Given the description of an element on the screen output the (x, y) to click on. 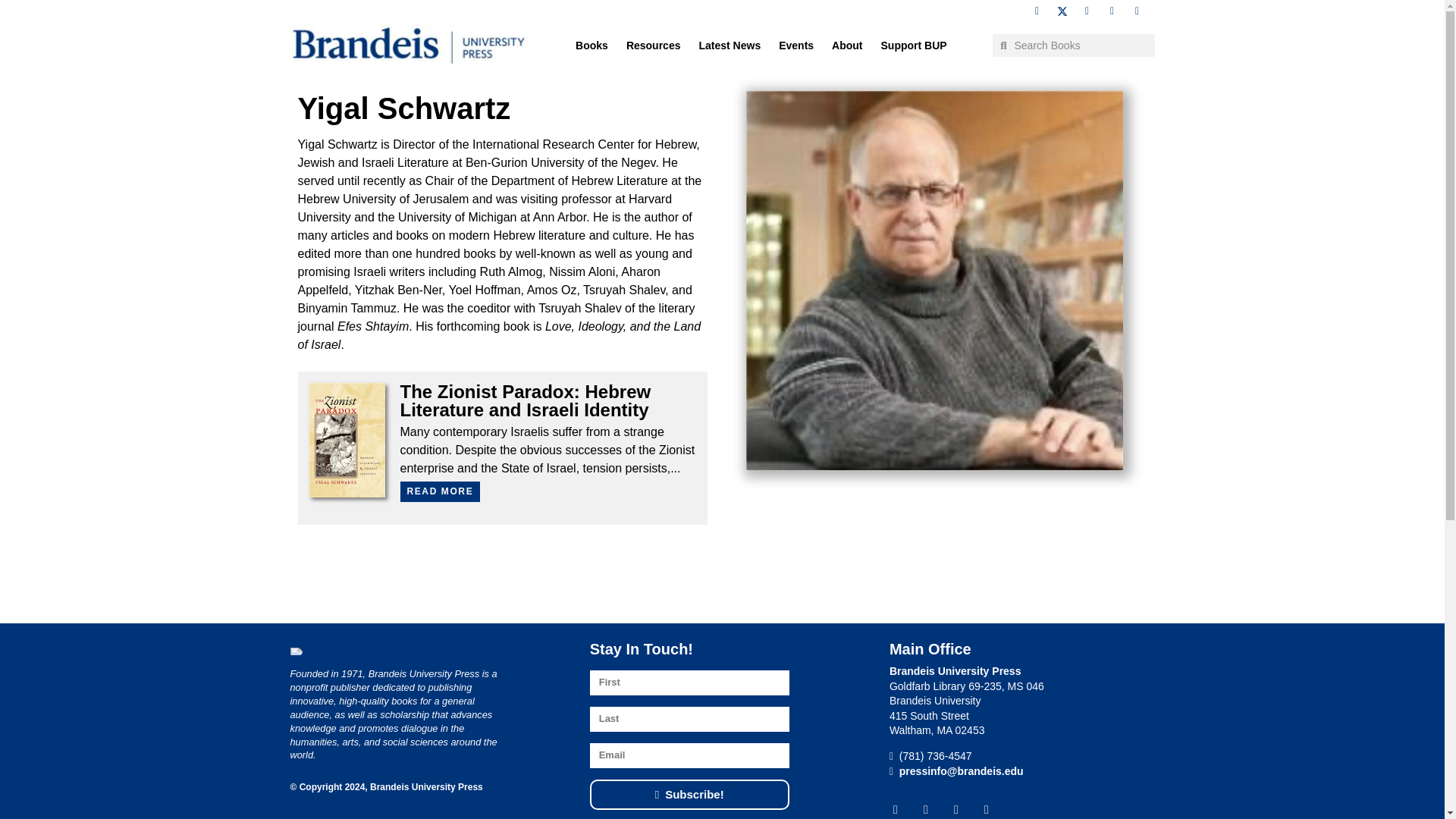
Books (591, 45)
